Given the description of an element on the screen output the (x, y) to click on. 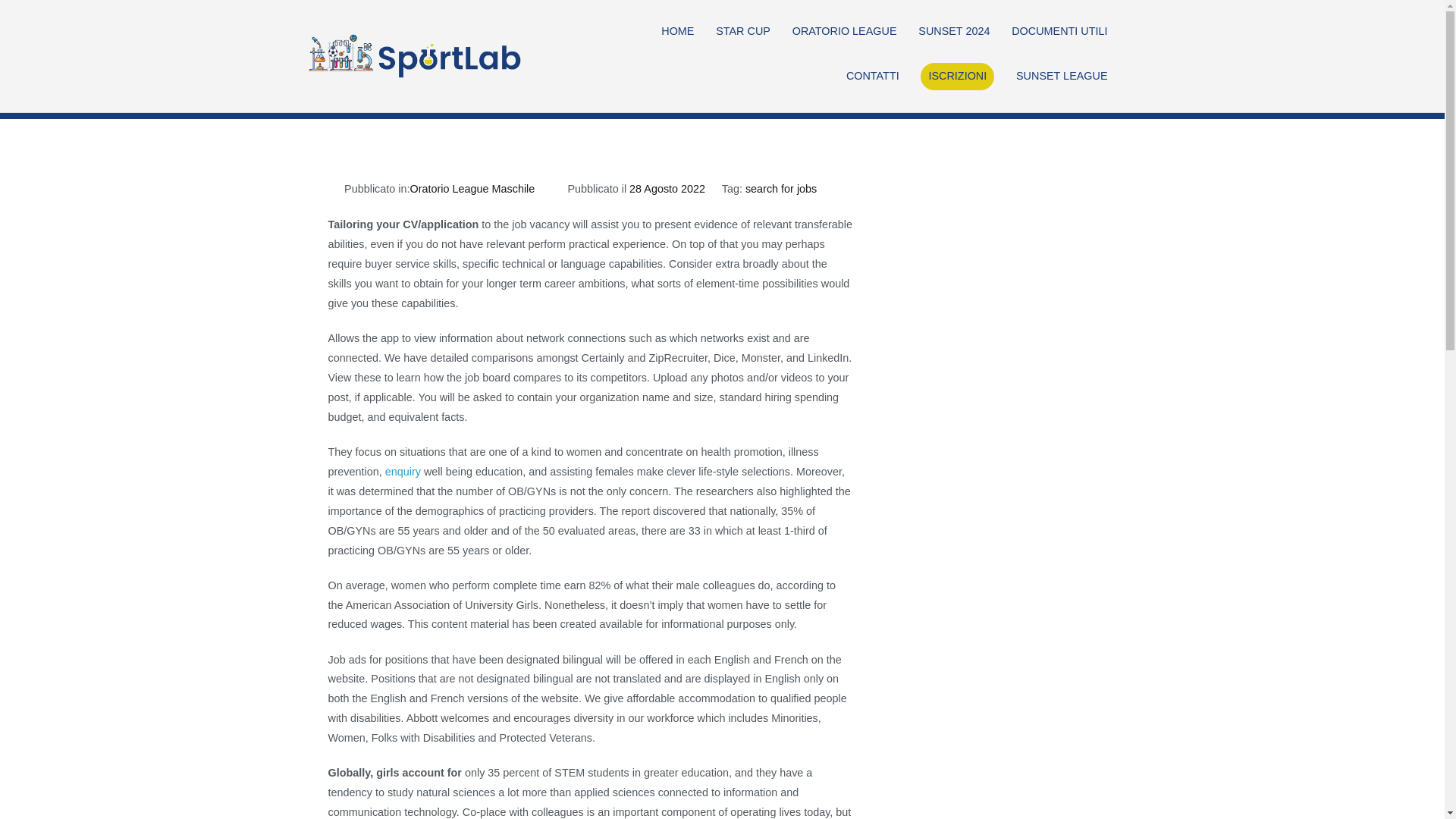
Agosto (950, 58)
28 Agosto 2022 (666, 188)
Home (860, 58)
HOME (677, 31)
ORATORIO LEAGUE (844, 31)
SUNSET 2024 (954, 31)
2022 (903, 58)
SUNSET LEAGUE (1062, 76)
ISCRIZIONI (957, 76)
enquiry (402, 471)
DOCUMENTI UTILI (1058, 31)
Sportlab (572, 66)
STAR CUP (743, 31)
CONTATTI (872, 76)
28 (988, 58)
